Given the description of an element on the screen output the (x, y) to click on. 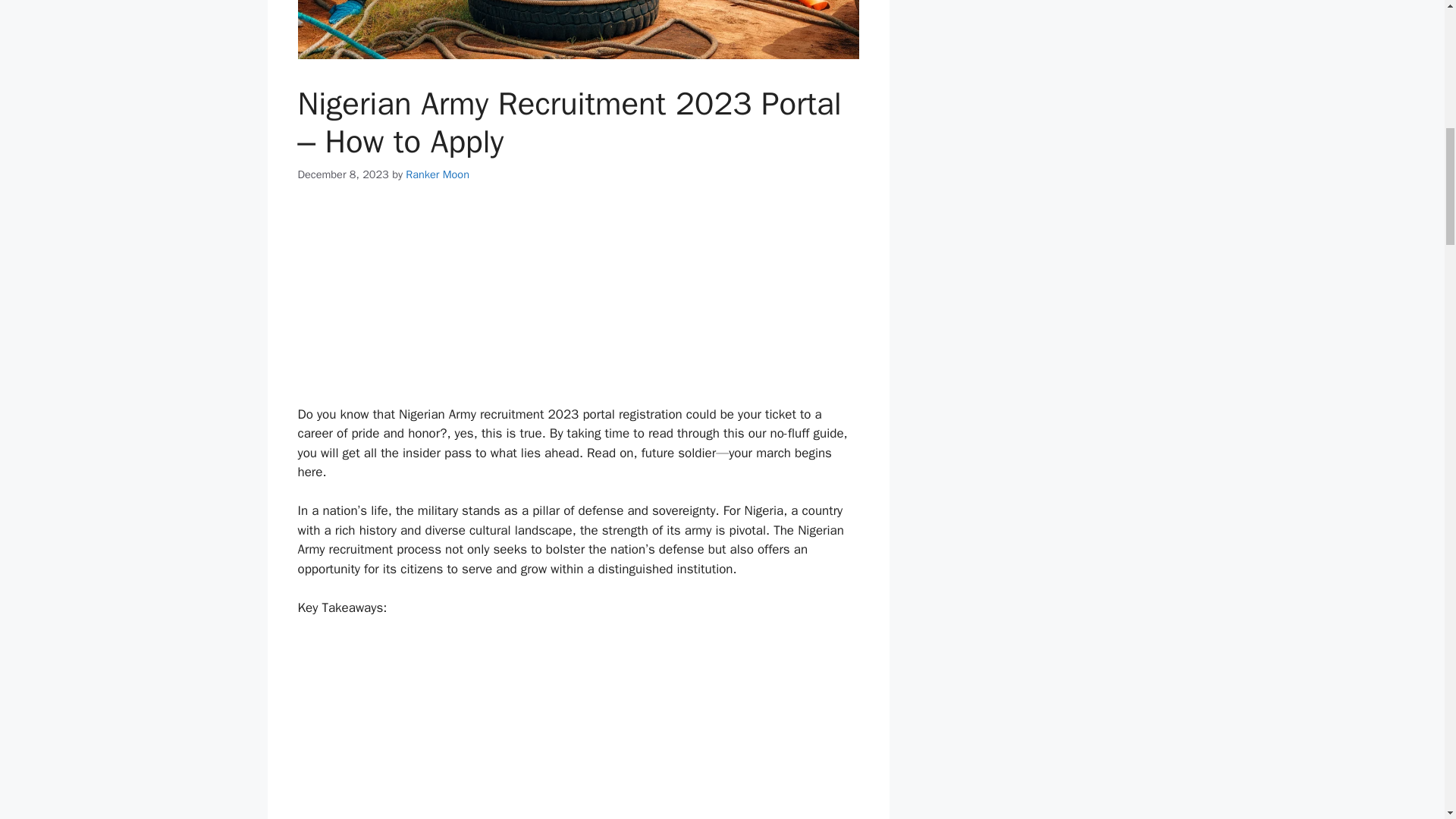
Ranker Moon (437, 173)
View all posts by Ranker Moon (437, 173)
